Given the description of an element on the screen output the (x, y) to click on. 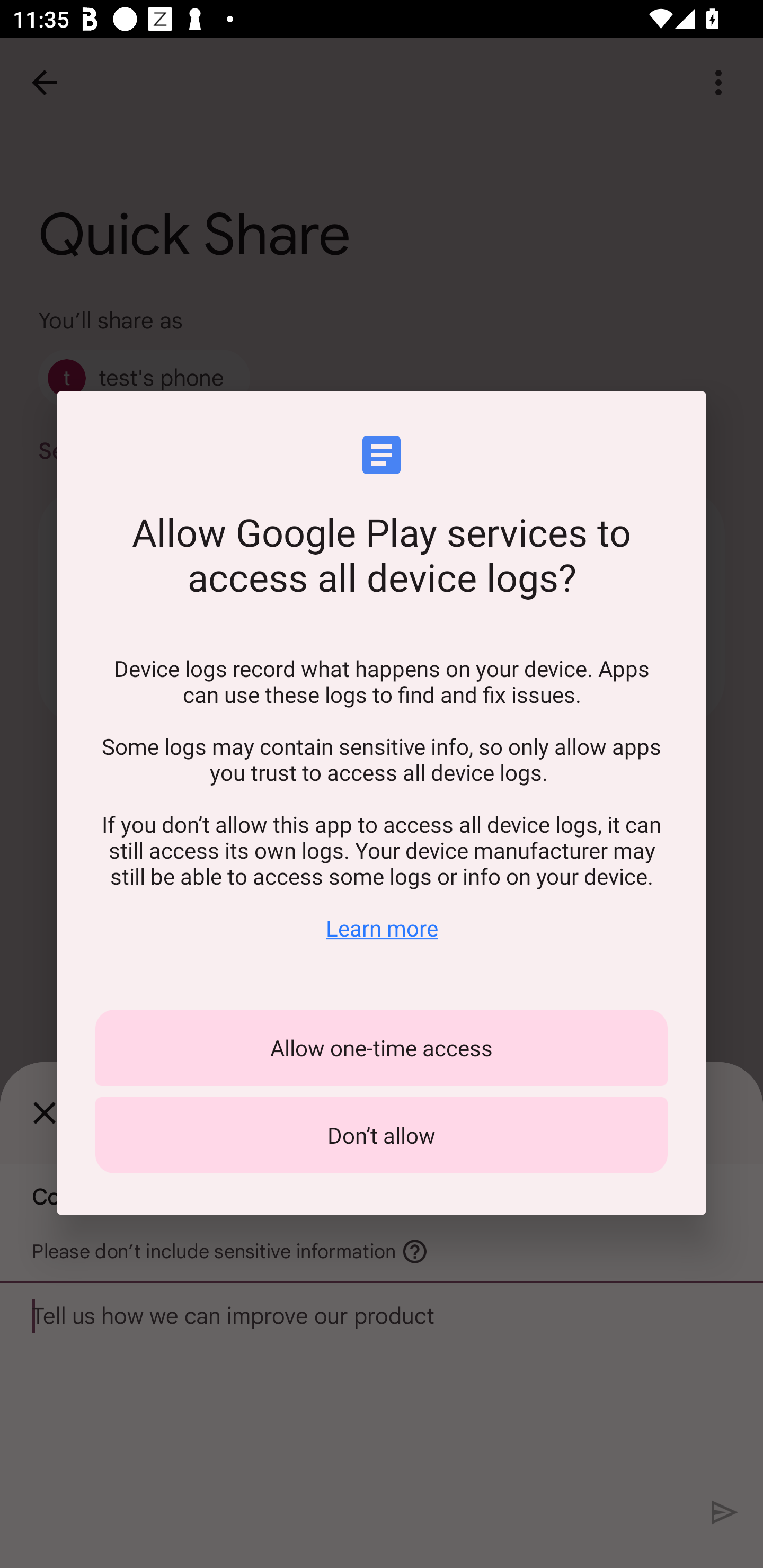
Allow one-time access (381, 1047)
Don’t allow (381, 1134)
